Given the description of an element on the screen output the (x, y) to click on. 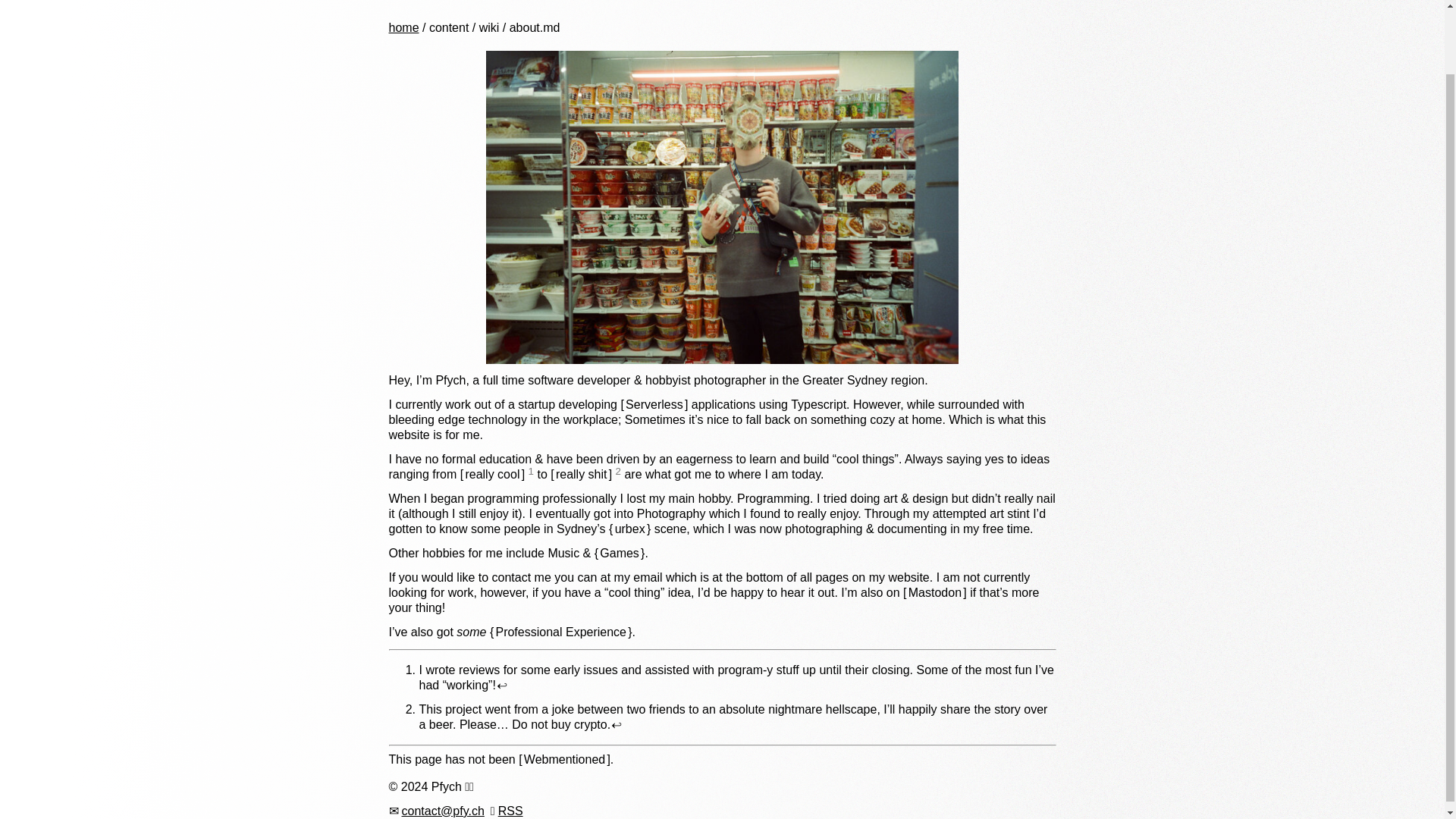
Mastodon (934, 592)
home (403, 27)
RSS (509, 810)
Webmentioned (563, 758)
really shit (580, 473)
Games (619, 553)
Professional Experience (560, 631)
urbex (629, 528)
Serverless (653, 404)
really cool (492, 473)
